Given the description of an element on the screen output the (x, y) to click on. 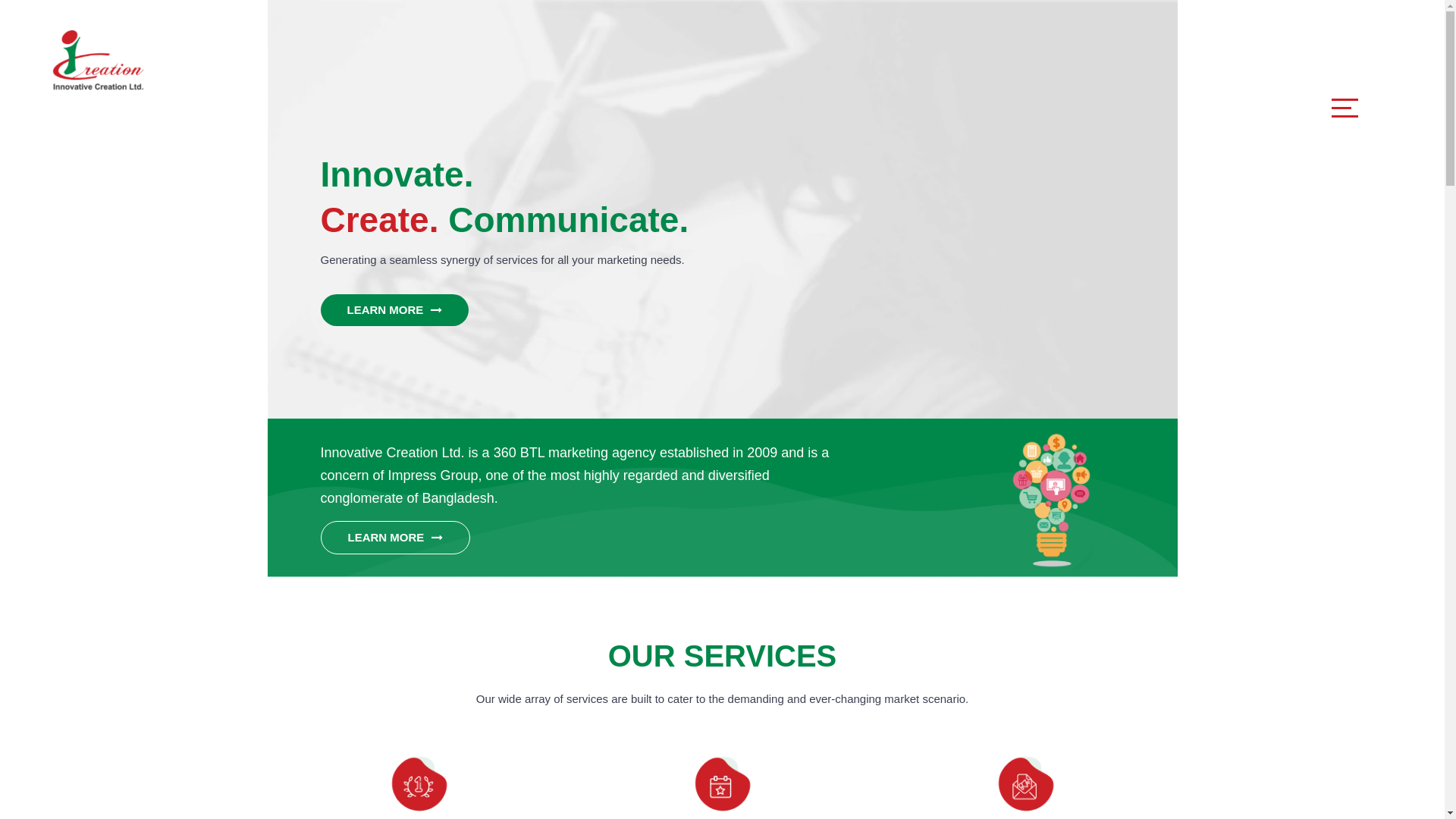
LEARN MORE Element type: text (394, 537)
LEARN MORE Element type: text (393, 310)
